Given the description of an element on the screen output the (x, y) to click on. 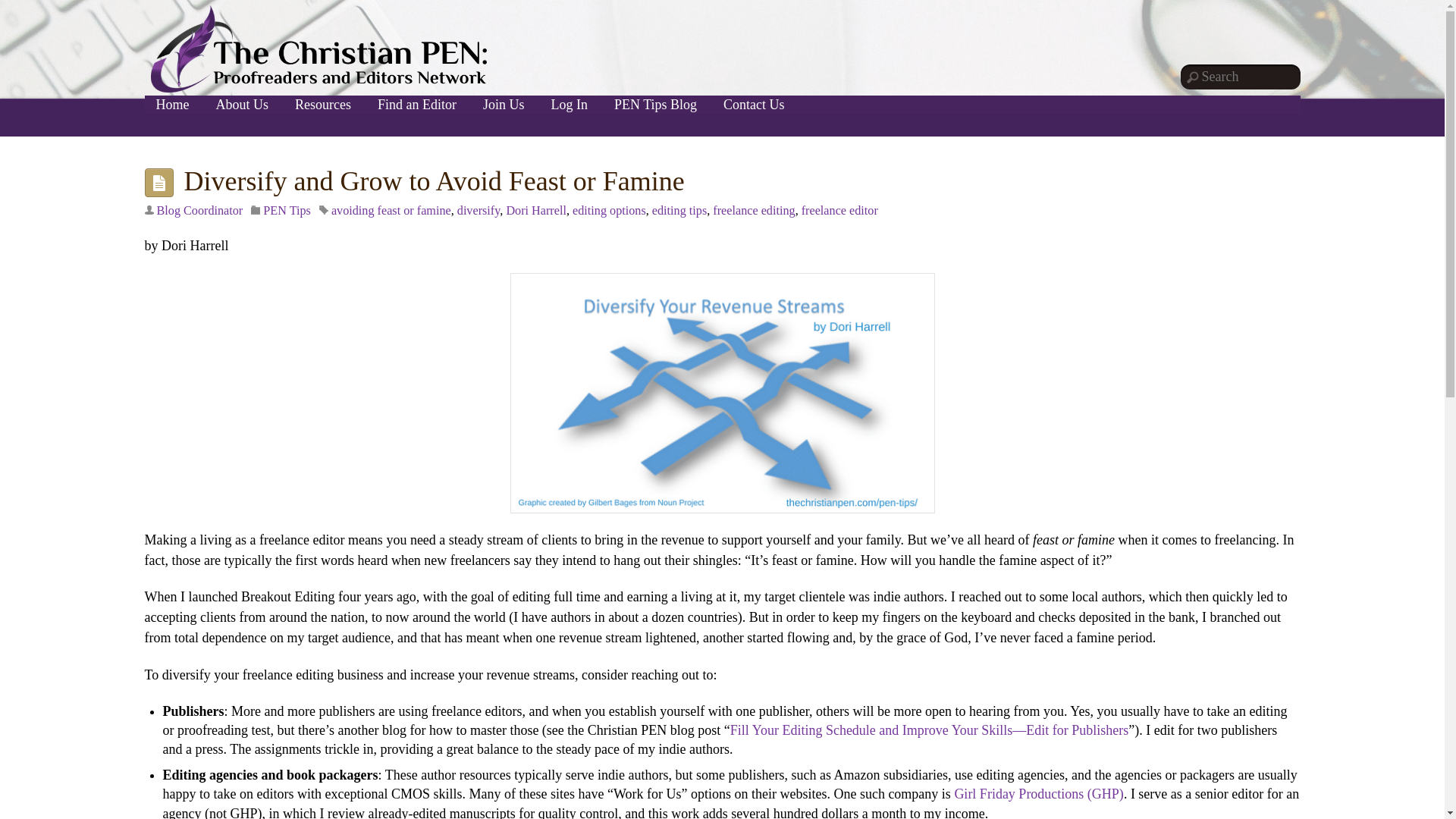
PEN Tips Blog (654, 104)
avoiding feast or famine (391, 210)
Diversify and Grow to Avoid Feast or Famine (433, 181)
PEN Tips (287, 210)
The Christian PEN (318, 49)
The Christian PEN (318, 85)
diversify (478, 210)
About Us (243, 104)
editing tips (679, 210)
Find an Editor (416, 104)
Contact Us (753, 104)
Resources (322, 104)
Diversify and Grow to Avoid Feast or Famine (433, 181)
Log In (569, 104)
editing options (609, 210)
